Given the description of an element on the screen output the (x, y) to click on. 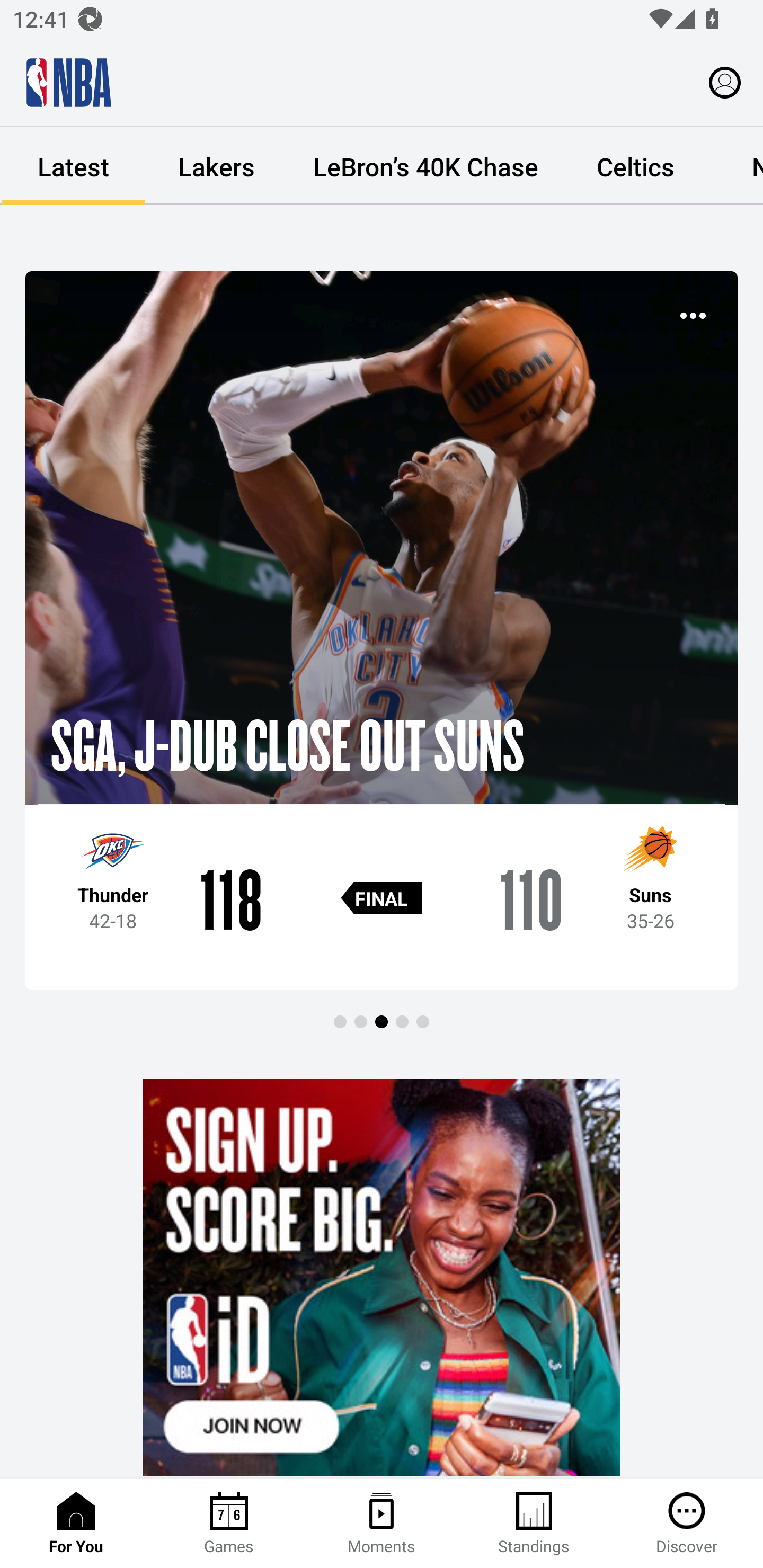
Profile (724, 81)
Lakers (215, 166)
LeBron’s 40K Chase (425, 166)
Celtics (634, 166)
Games (228, 1523)
Moments (381, 1523)
Standings (533, 1523)
Discover (686, 1523)
